Given the description of an element on the screen output the (x, y) to click on. 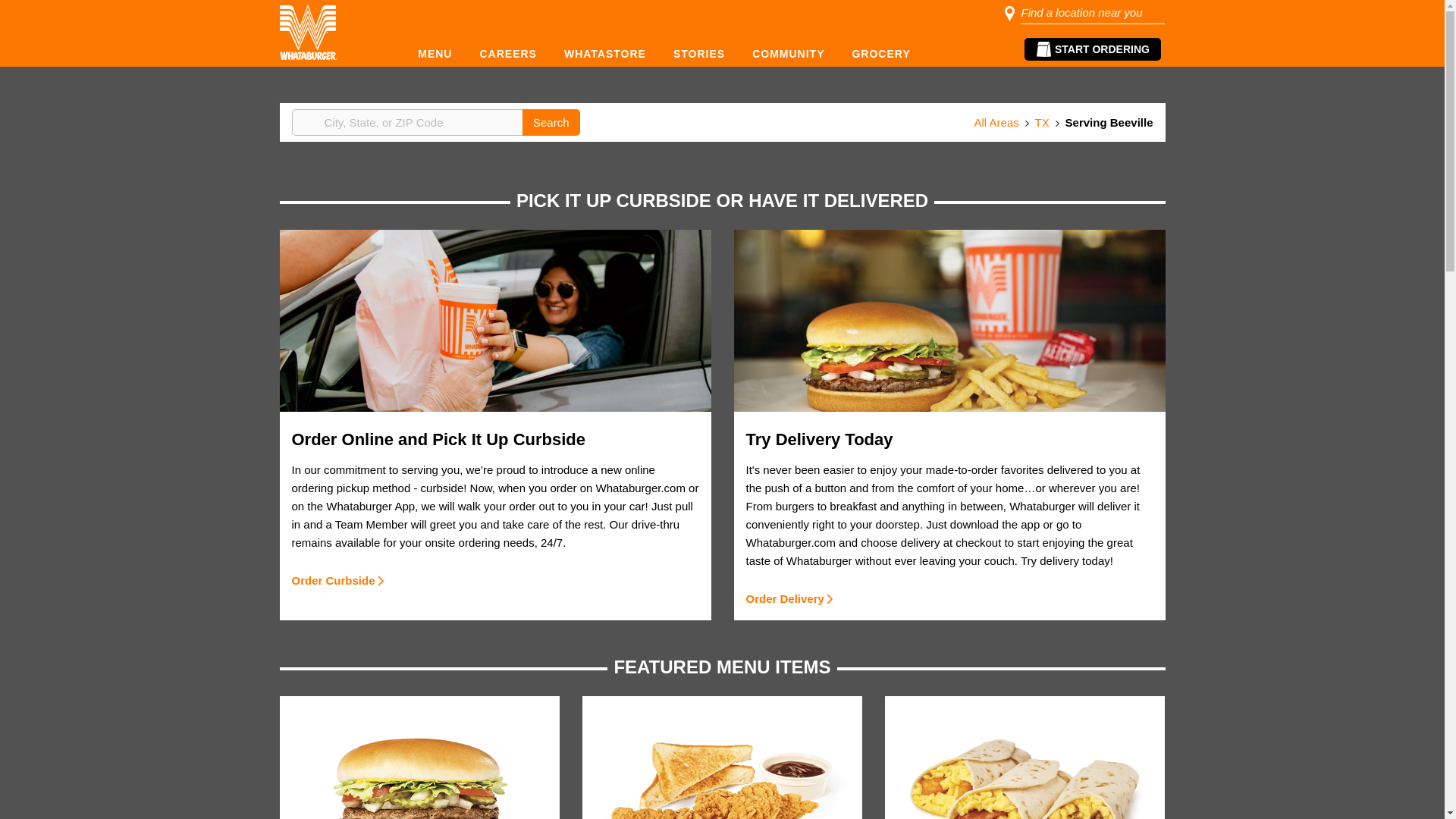
GROCERY (880, 53)
CAREERS (507, 53)
Search (550, 121)
MENU (434, 53)
START ORDERING (1092, 48)
All Areas (996, 121)
STORIES (699, 53)
Order Delivery (790, 598)
COMMUNITY (788, 53)
Order Curbside (339, 580)
Geolocate Me (508, 122)
TX (1042, 121)
WHATASTORE (605, 53)
